Given the description of an element on the screen output the (x, y) to click on. 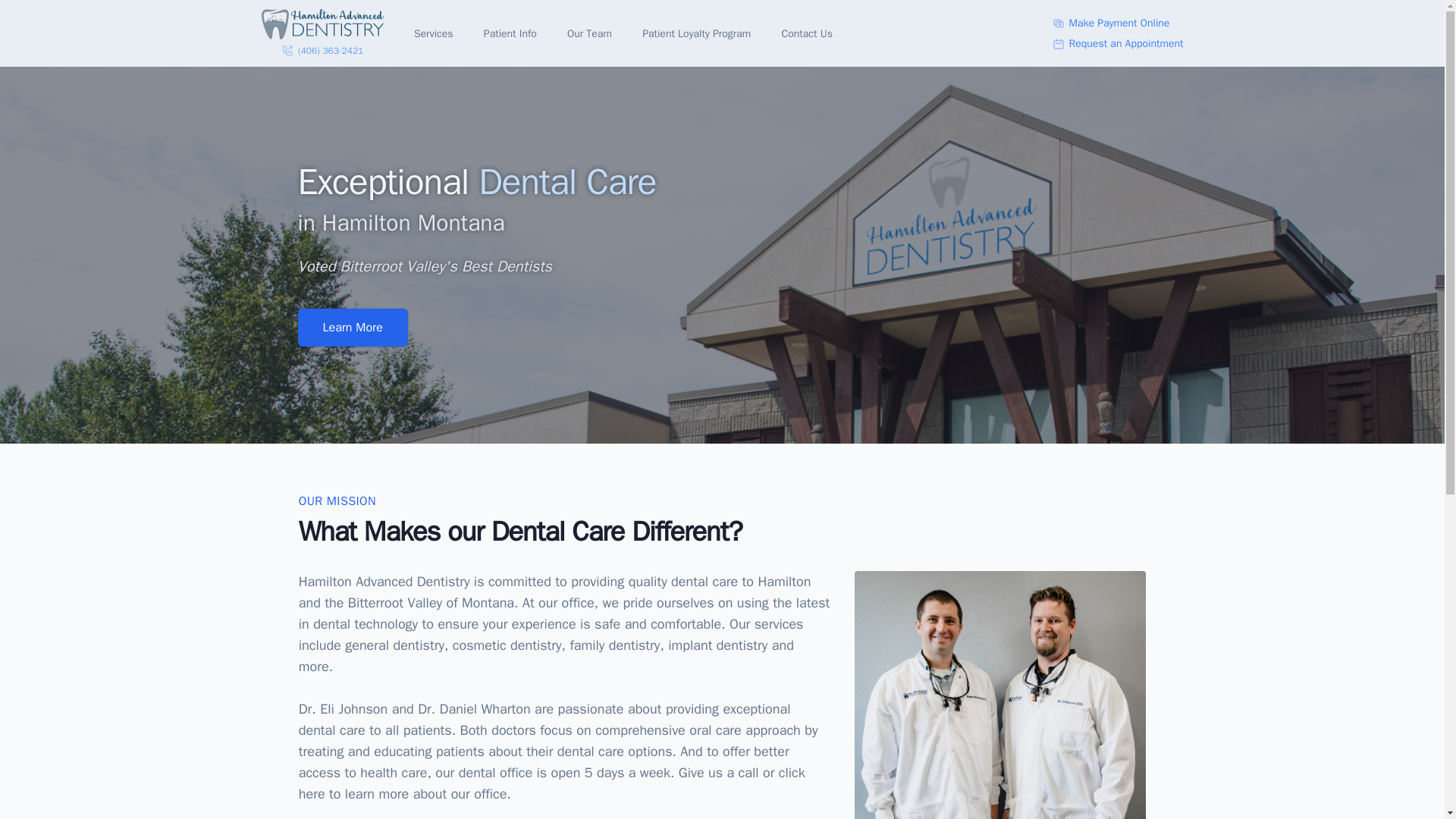
Request an Appointment (1117, 43)
Our Team (590, 33)
Patient Info (511, 33)
Learn More (352, 327)
Contact Us (807, 33)
Services (434, 33)
click here (551, 783)
Make Payment Online (1117, 23)
Patient Loyalty Program (697, 33)
